Given the description of an element on the screen output the (x, y) to click on. 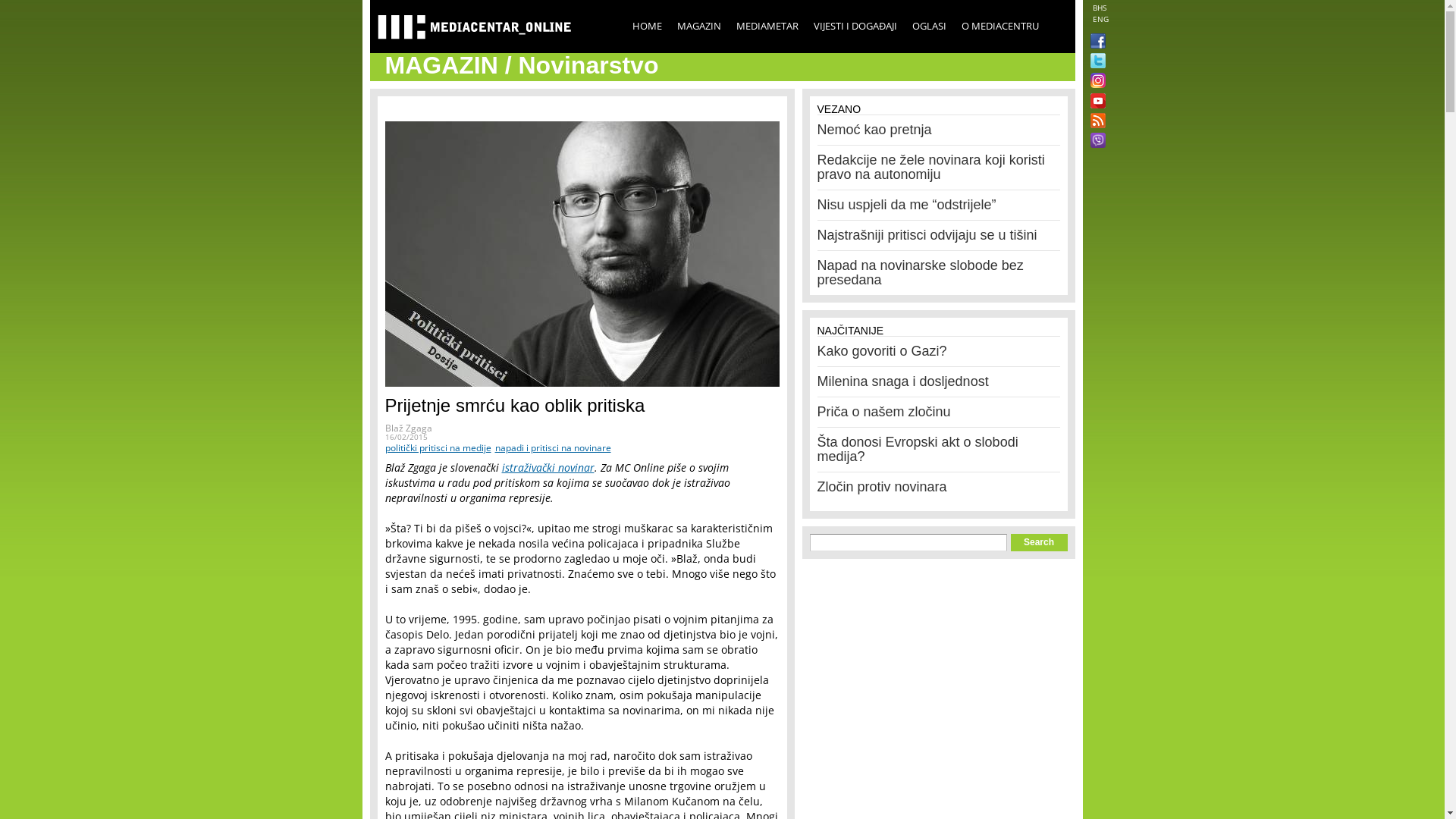
MC_ONLINE RSS Element type: hover (1094, 122)
napadi i pritisci na novinare Element type: text (552, 447)
Kako govoriti o Gazi? Element type: text (882, 350)
BHS Element type: text (1098, 7)
MC_ONLINE Facebook Element type: hover (1094, 42)
O MEDIACENTRU Element type: text (999, 25)
Skip to main content Element type: text (688, 1)
OGLASI Element type: text (928, 25)
MC_ONLINE VIBER Element type: hover (1094, 141)
MC_ONLINE Twitter Element type: hover (1094, 62)
HOME Element type: text (647, 25)
MC_ONLINE YouTube Element type: hover (1094, 100)
MC_ONLINE Instagram Element type: hover (1094, 81)
MEDIAMETAR Element type: text (766, 25)
ENG Element type: text (1099, 18)
MAGAZIN Element type: text (698, 25)
Search Element type: text (1038, 542)
Napad na novinarske slobode bez presedana Element type: text (920, 272)
Milenina snaga i dosljednost Element type: text (902, 381)
Enter the terms you wish to search for. Element type: hover (908, 542)
